Given the description of an element on the screen output the (x, y) to click on. 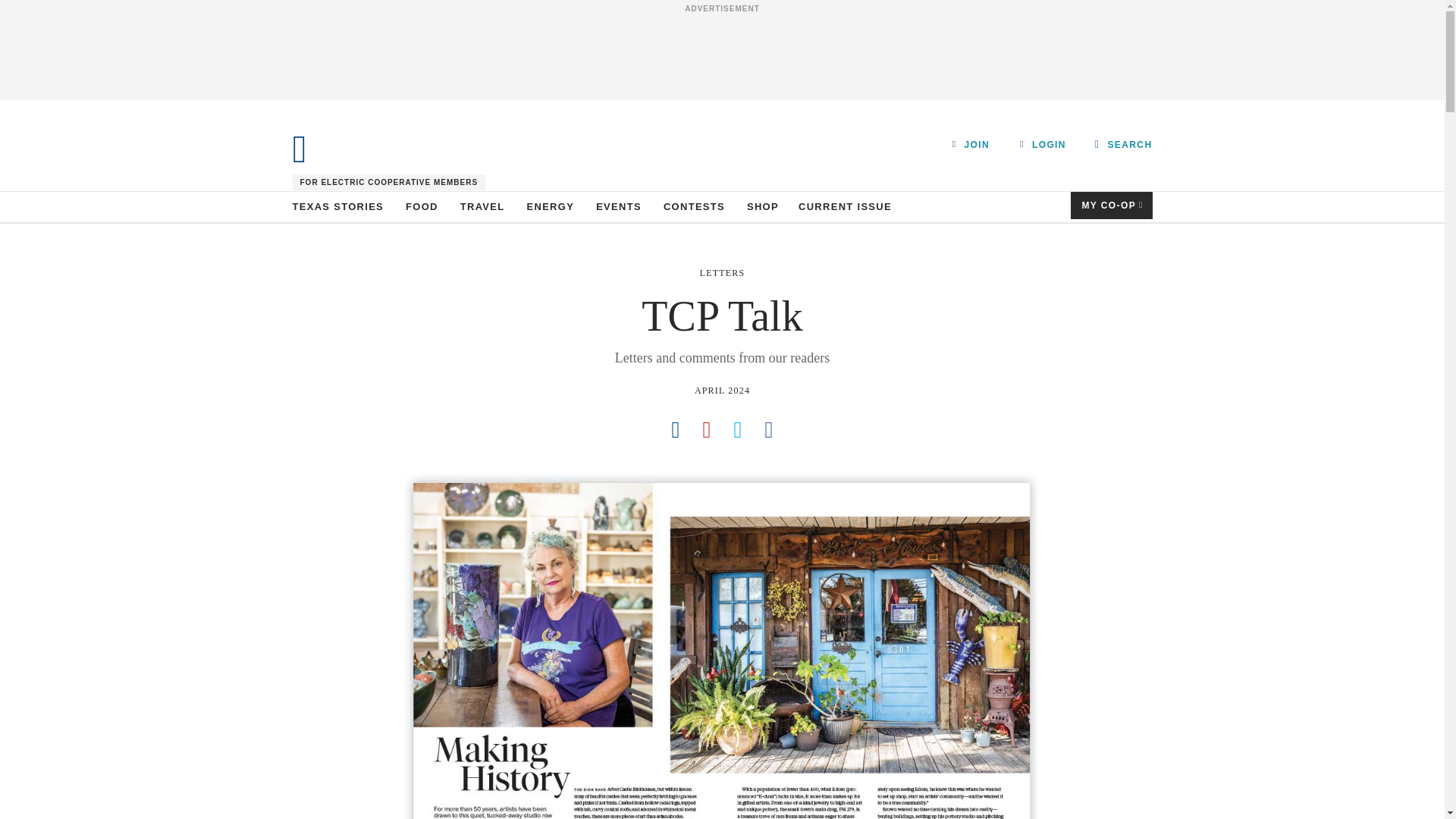
LOGIN (1042, 144)
ENERGY (551, 206)
TEXAS STORIES (338, 206)
JOIN (970, 144)
CURRENT ISSUE (844, 206)
SHOP (762, 206)
FOOD (422, 206)
MY CO-OP (1111, 205)
TRAVEL (482, 206)
EVENTS (618, 206)
